Given the description of an element on the screen output the (x, y) to click on. 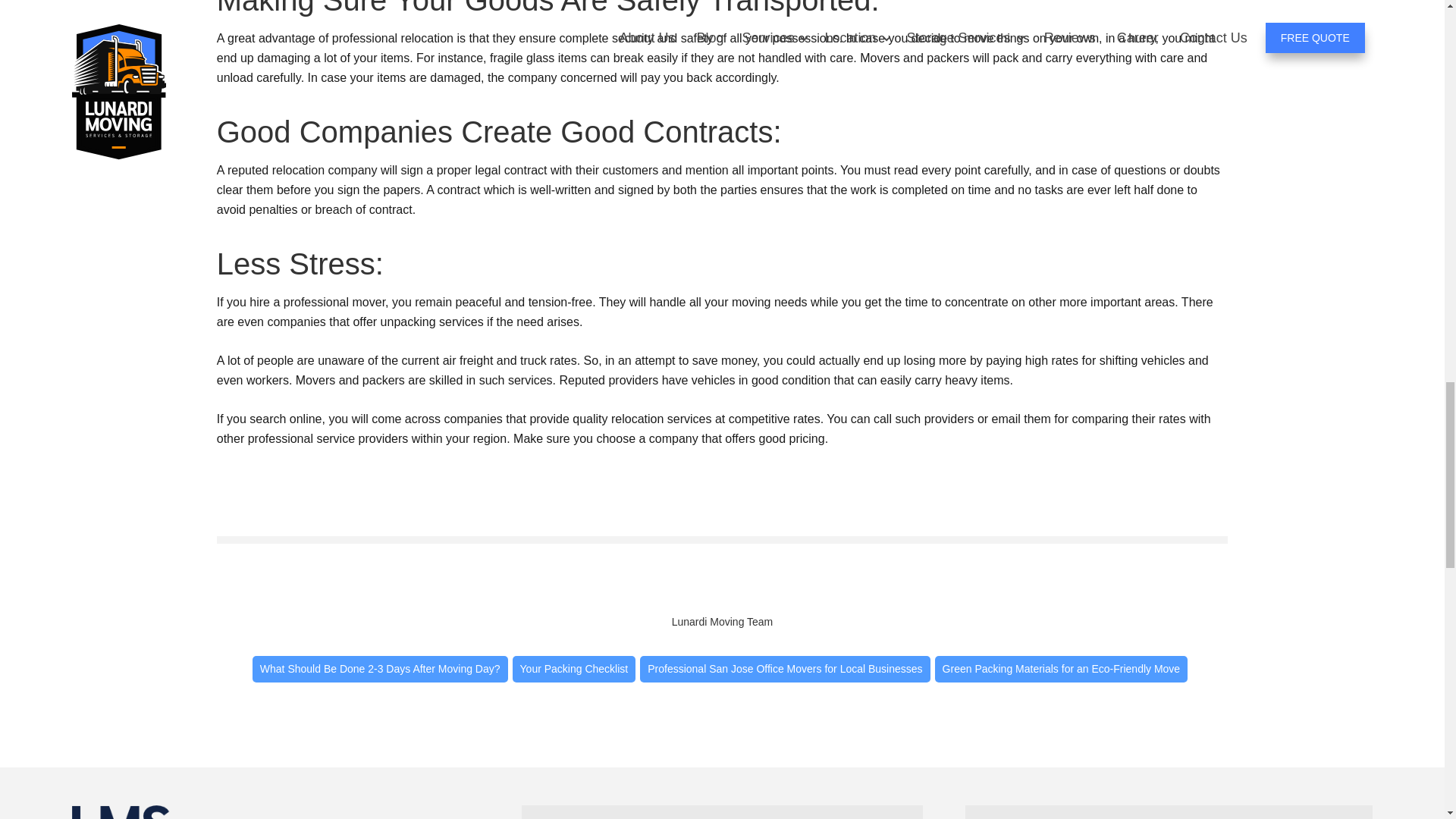
Your Packing Checklist (574, 669)
Green Packing Materials for an Eco-Friendly Move (1061, 669)
Professional San Jose Office Movers for Local Businesses (785, 669)
What Should Be Done 2-3 Days After Moving Day? (379, 669)
